Given the description of an element on the screen output the (x, y) to click on. 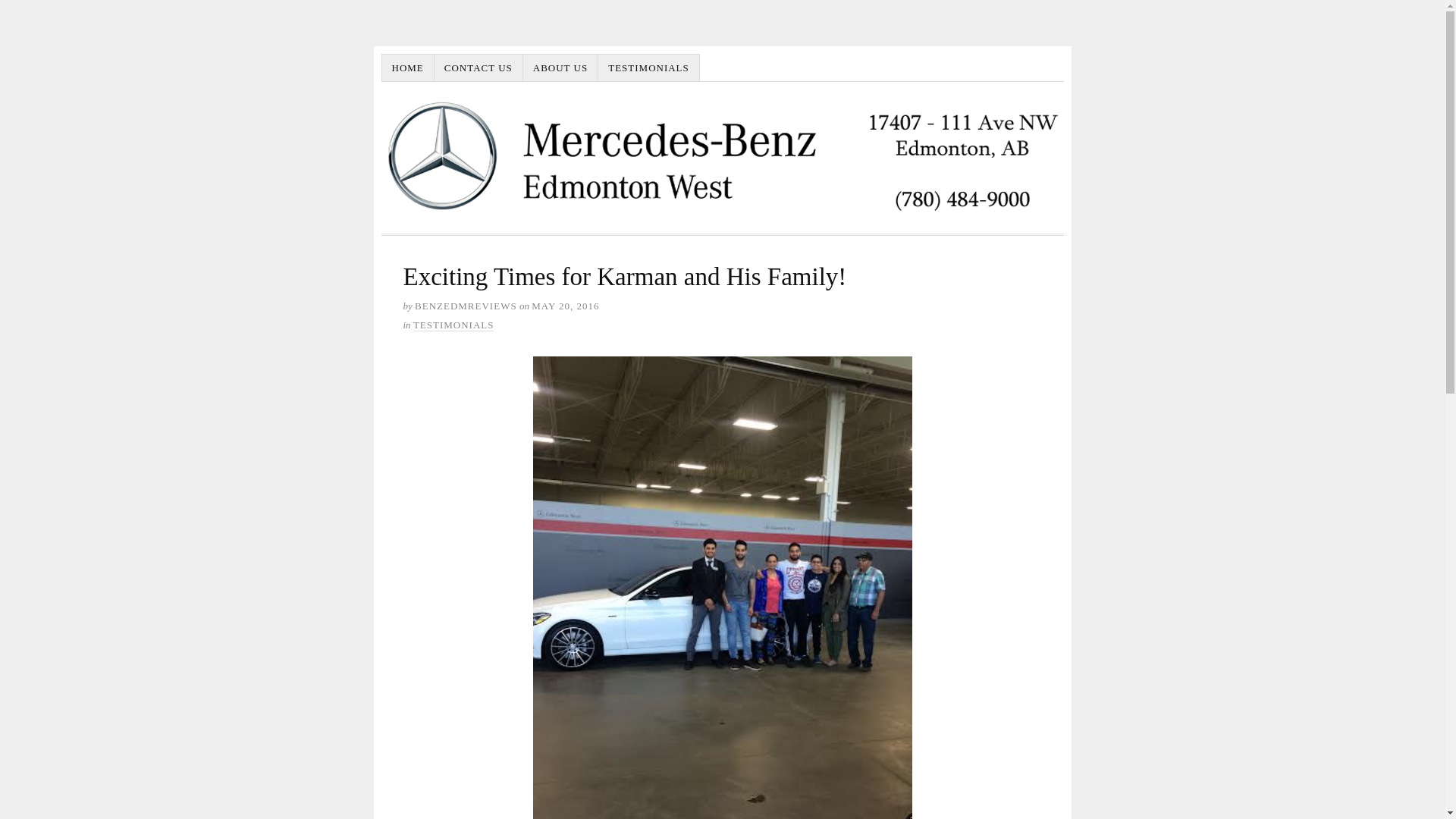
CONTACT US (477, 67)
ABOUT US (560, 67)
2016-05-20 (564, 306)
TESTIMONIALS (454, 325)
HOME (407, 67)
TESTIMONIALS (649, 67)
